Given the description of an element on the screen output the (x, y) to click on. 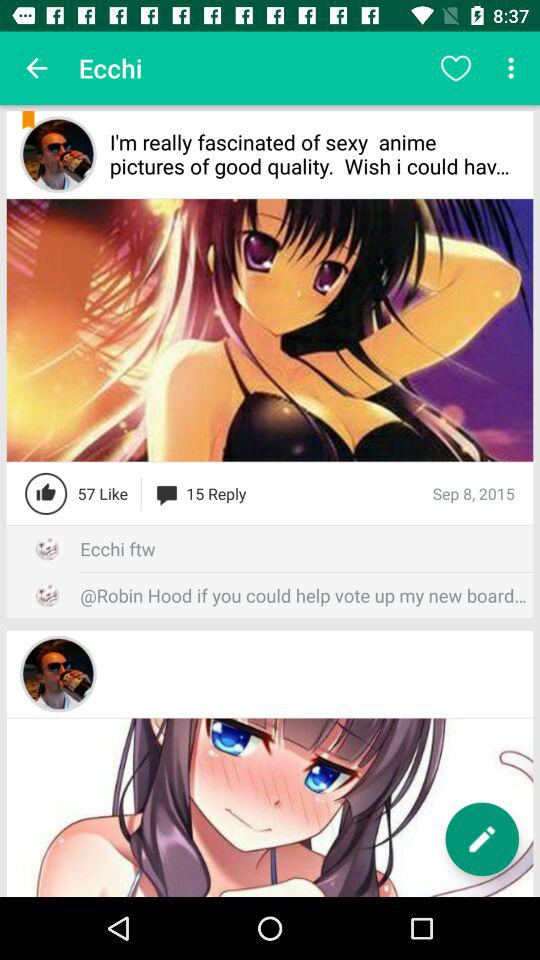
start text (482, 839)
